Given the description of an element on the screen output the (x, y) to click on. 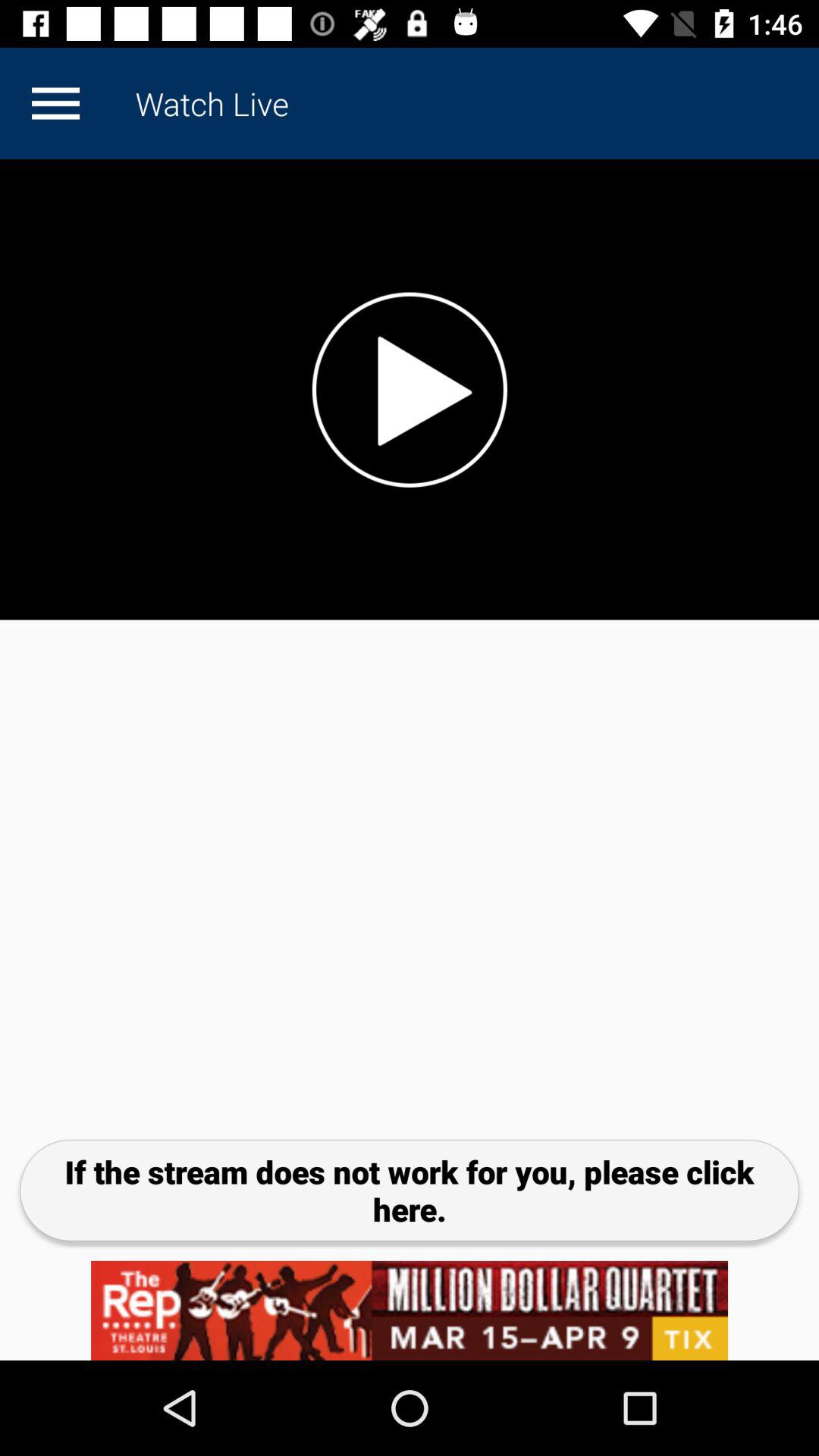
play video (409, 389)
